Given the description of an element on the screen output the (x, y) to click on. 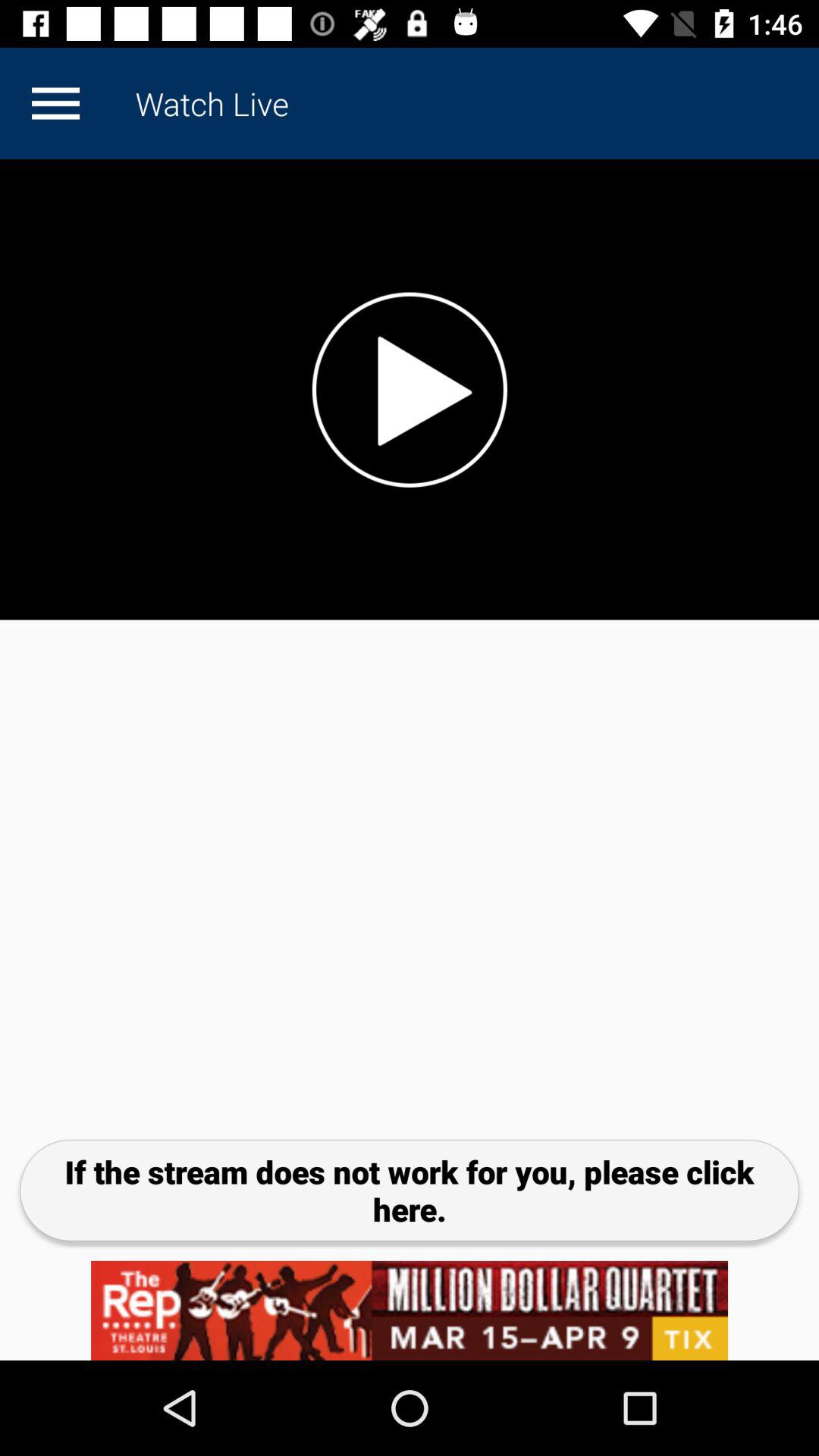
play video (409, 389)
